Given the description of an element on the screen output the (x, y) to click on. 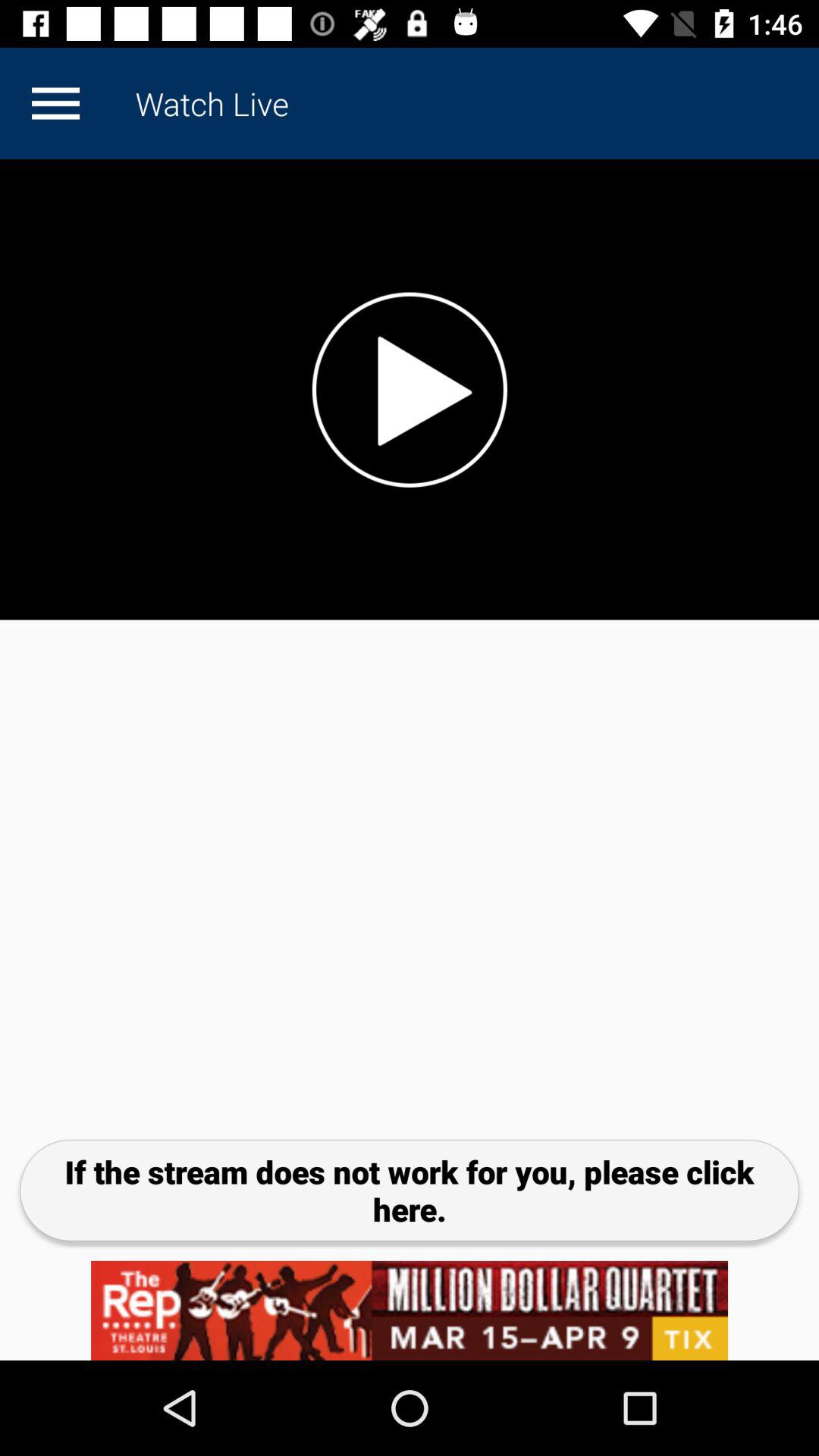
play video (409, 389)
